Given the description of an element on the screen output the (x, y) to click on. 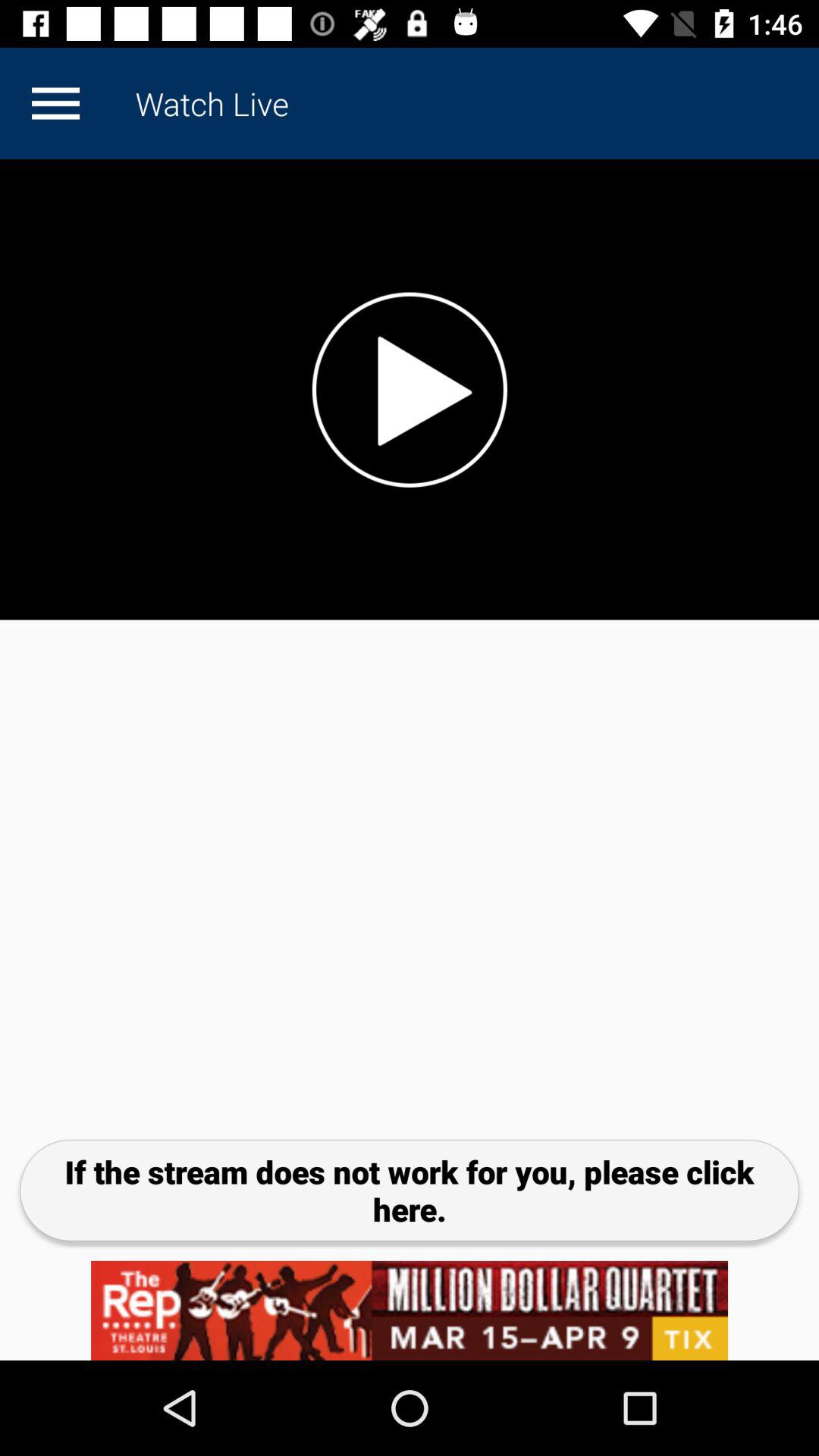
play video (409, 389)
